Given the description of an element on the screen output the (x, y) to click on. 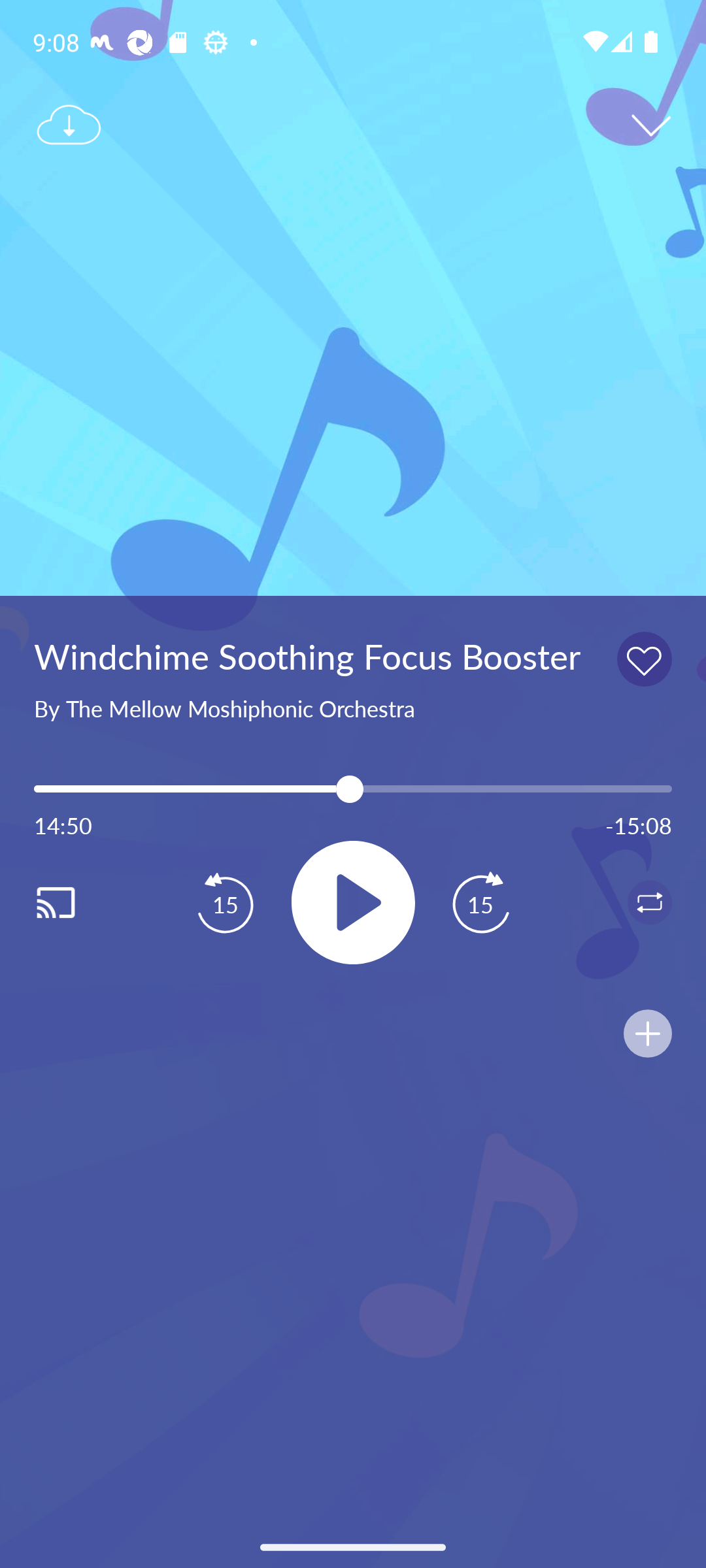
890.0 (352, 789)
Cast. Disconnected (76, 902)
